Given the description of an element on the screen output the (x, y) to click on. 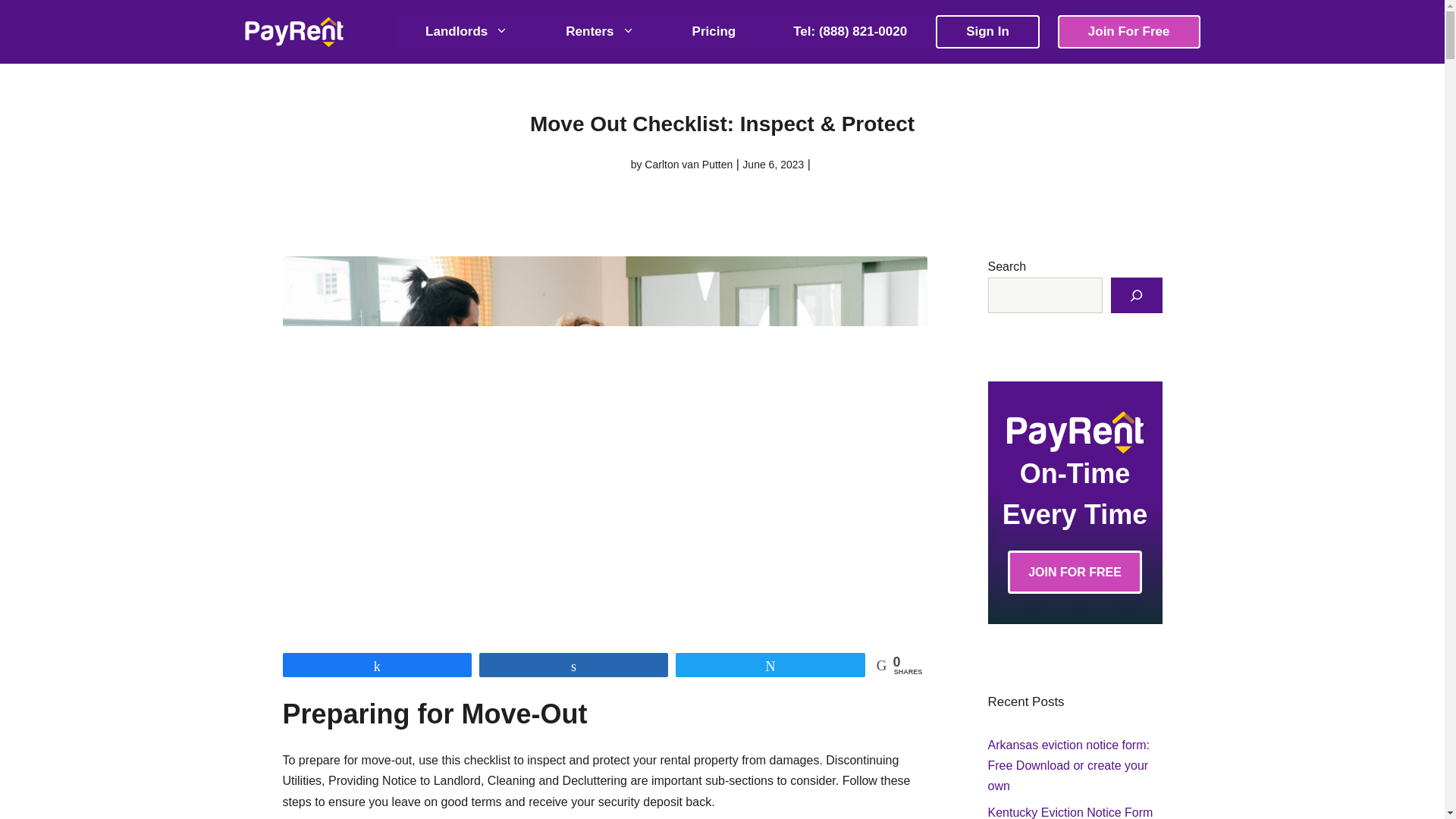
Pricing (714, 31)
Renters (599, 31)
Join For Free (1128, 31)
Landlords (466, 31)
Sign In (987, 31)
